Given the description of an element on the screen output the (x, y) to click on. 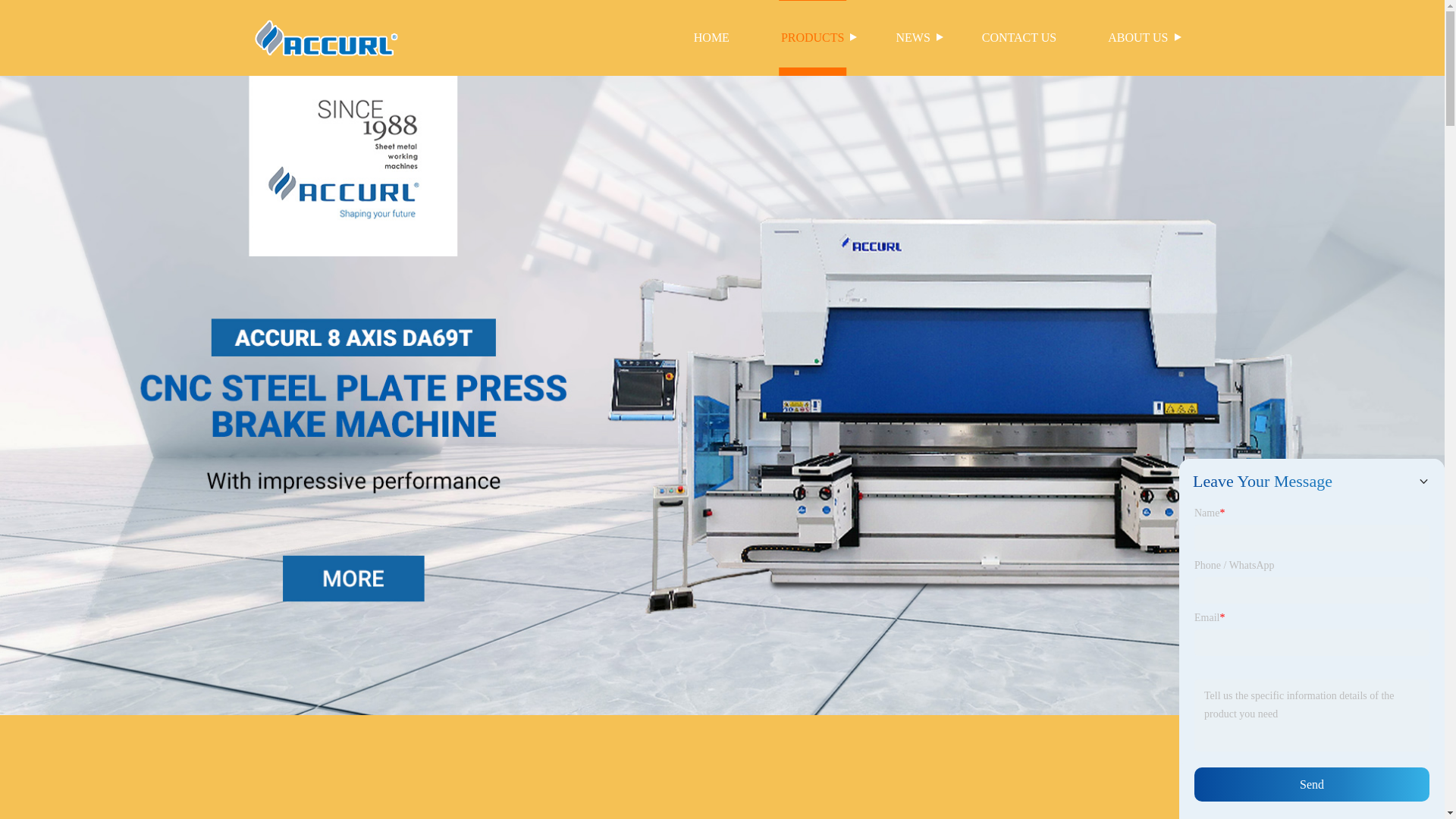
HOME (711, 38)
ABOUT US (1137, 38)
NEWS (912, 38)
CONTACT US (1018, 38)
PRODUCTS (812, 38)
